Given the description of an element on the screen output the (x, y) to click on. 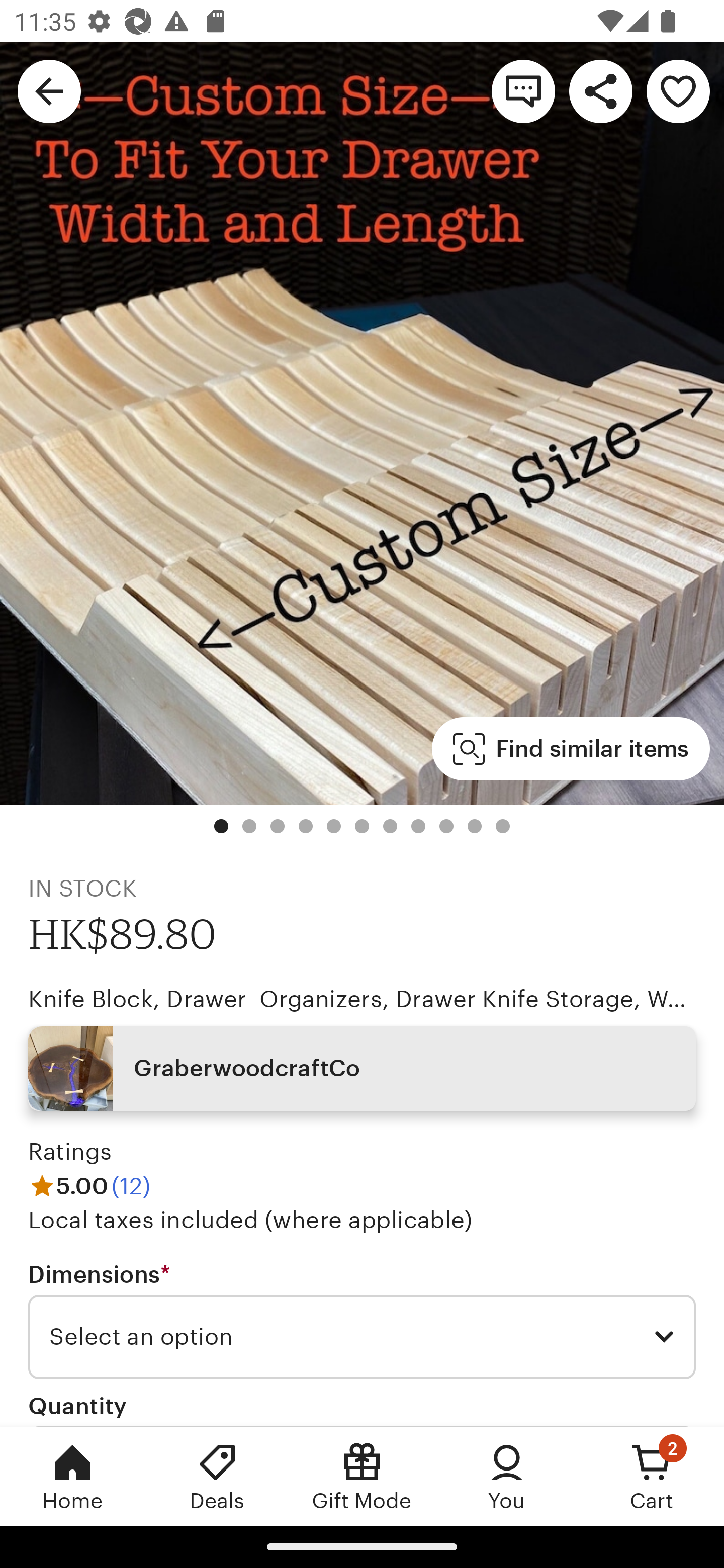
Navigate up (49, 90)
Contact shop (523, 90)
Share (600, 90)
Find similar items (571, 748)
GraberwoodcraftCo (361, 1067)
Ratings (70, 1151)
5.00 (12) (89, 1185)
Dimensions * Required Select an option (361, 1319)
Select an option (361, 1336)
Quantity (77, 1405)
Deals (216, 1475)
Gift Mode (361, 1475)
You (506, 1475)
Cart, 2 new notifications Cart (651, 1475)
